Given the description of an element on the screen output the (x, y) to click on. 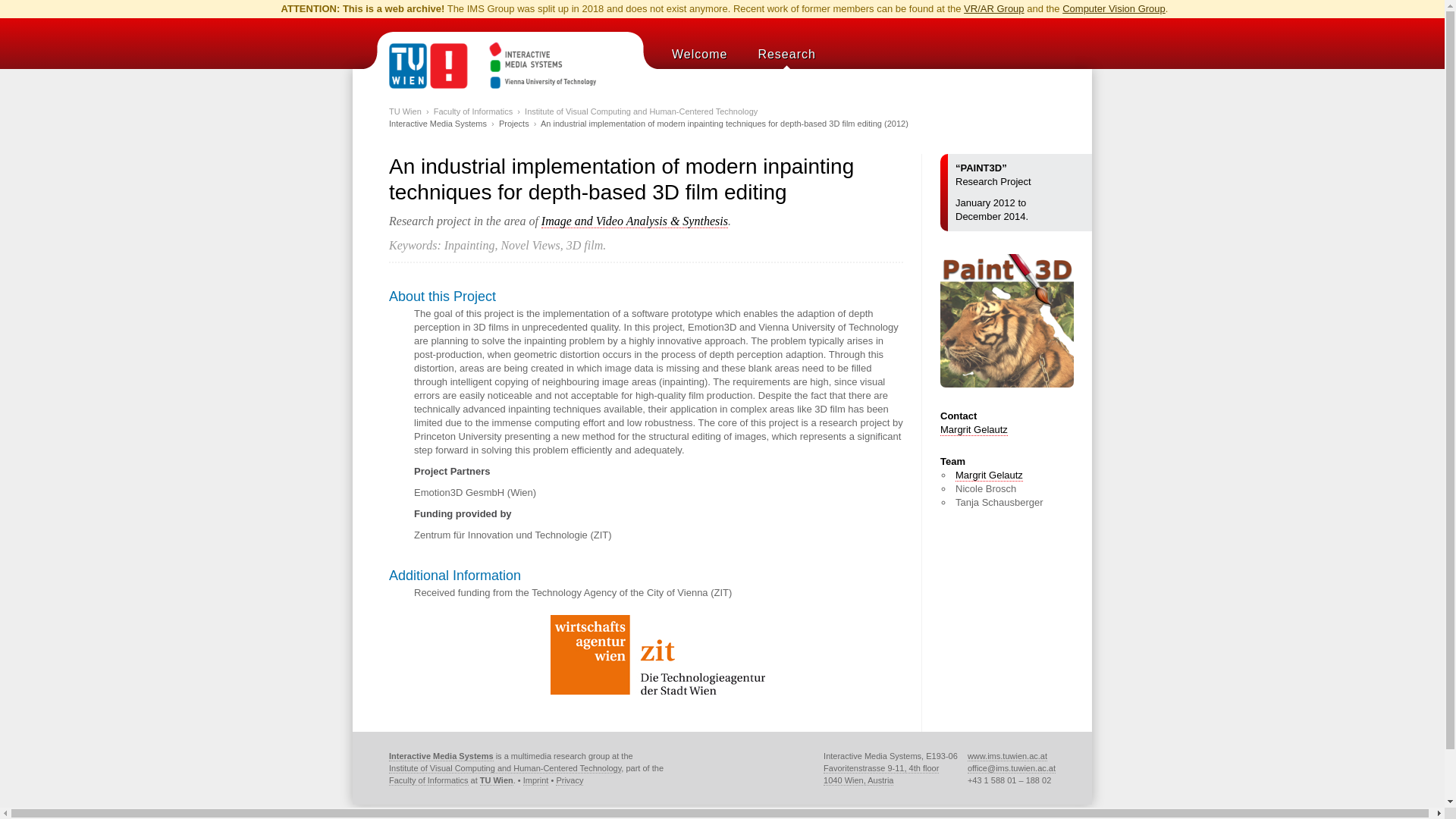
Computer Vision Group (1114, 8)
Research (785, 54)
Welcome (699, 54)
